Given the description of an element on the screen output the (x, y) to click on. 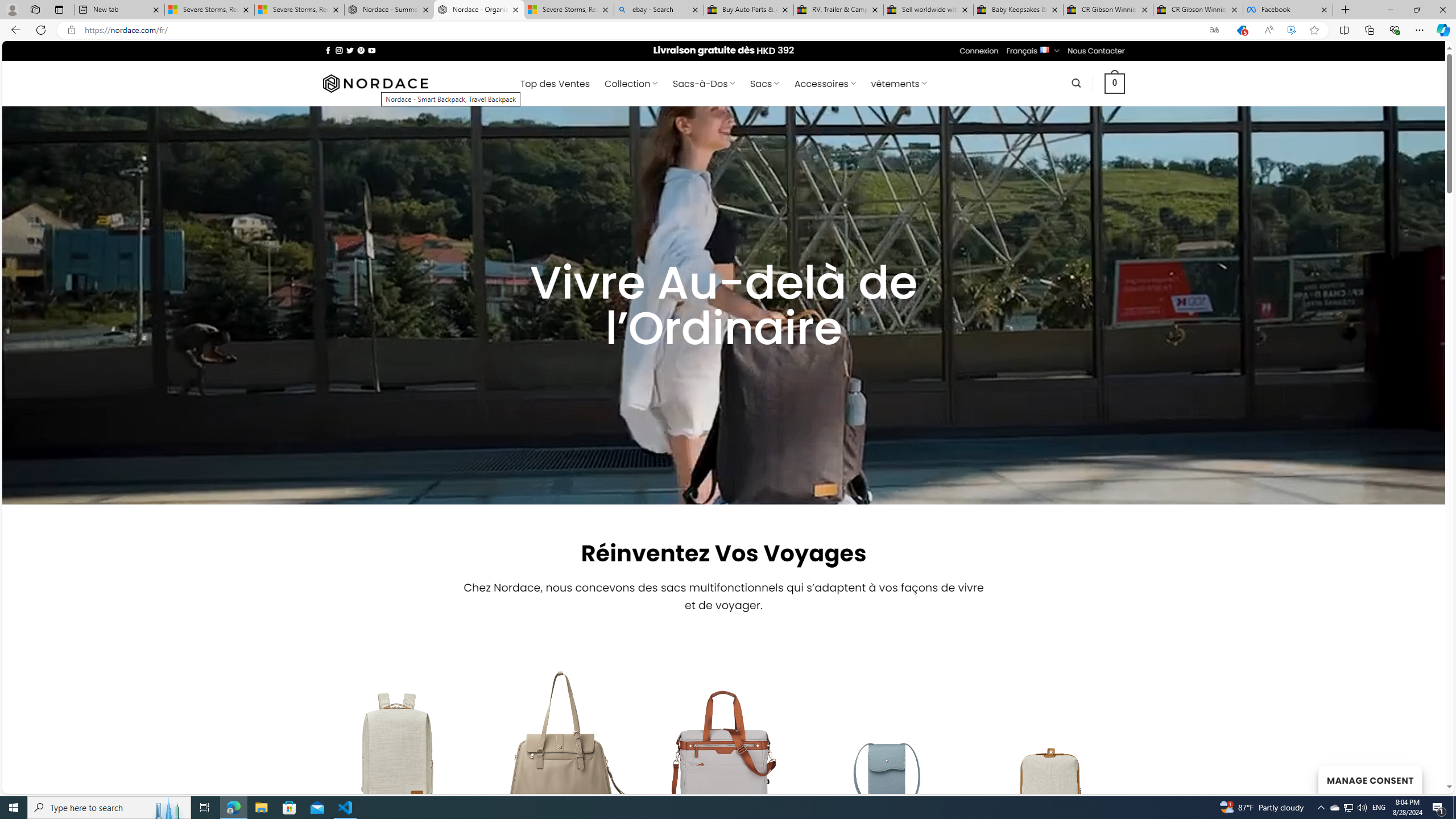
Nous suivre sur Twitter (349, 49)
Connexion (978, 50)
Nous Contacter (1096, 50)
Connexion (978, 50)
